Given the description of an element on the screen output the (x, y) to click on. 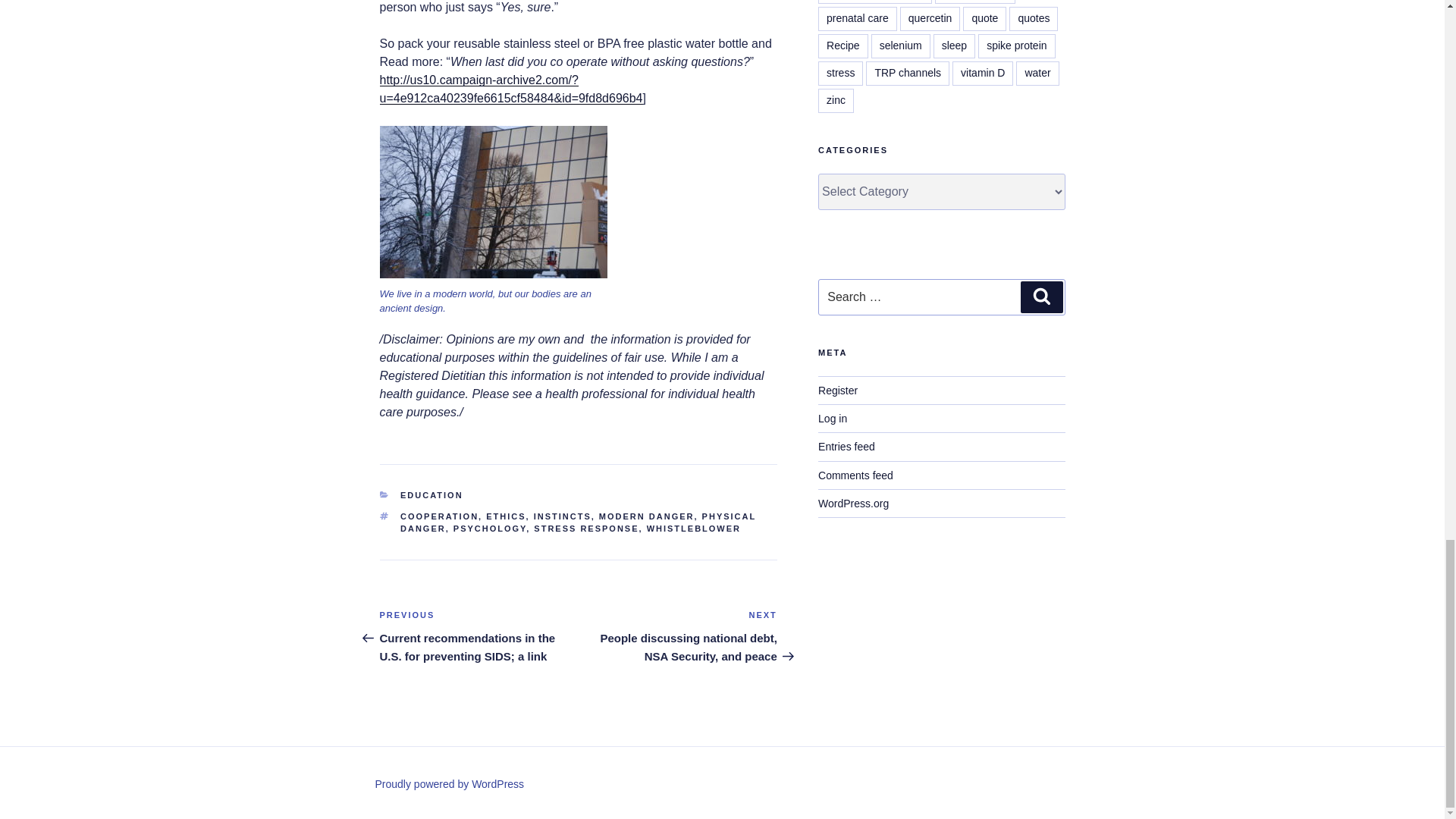
INSTINCTS (562, 515)
WHISTLEBLOWER (693, 528)
COOPERATION (439, 515)
PSYCHOLOGY (488, 528)
STRESS RESPONSE (586, 528)
PHYSICAL DANGER (577, 522)
ETHICS (505, 515)
MODERN DANGER (646, 515)
EDUCATION (431, 494)
